Given the description of an element on the screen output the (x, y) to click on. 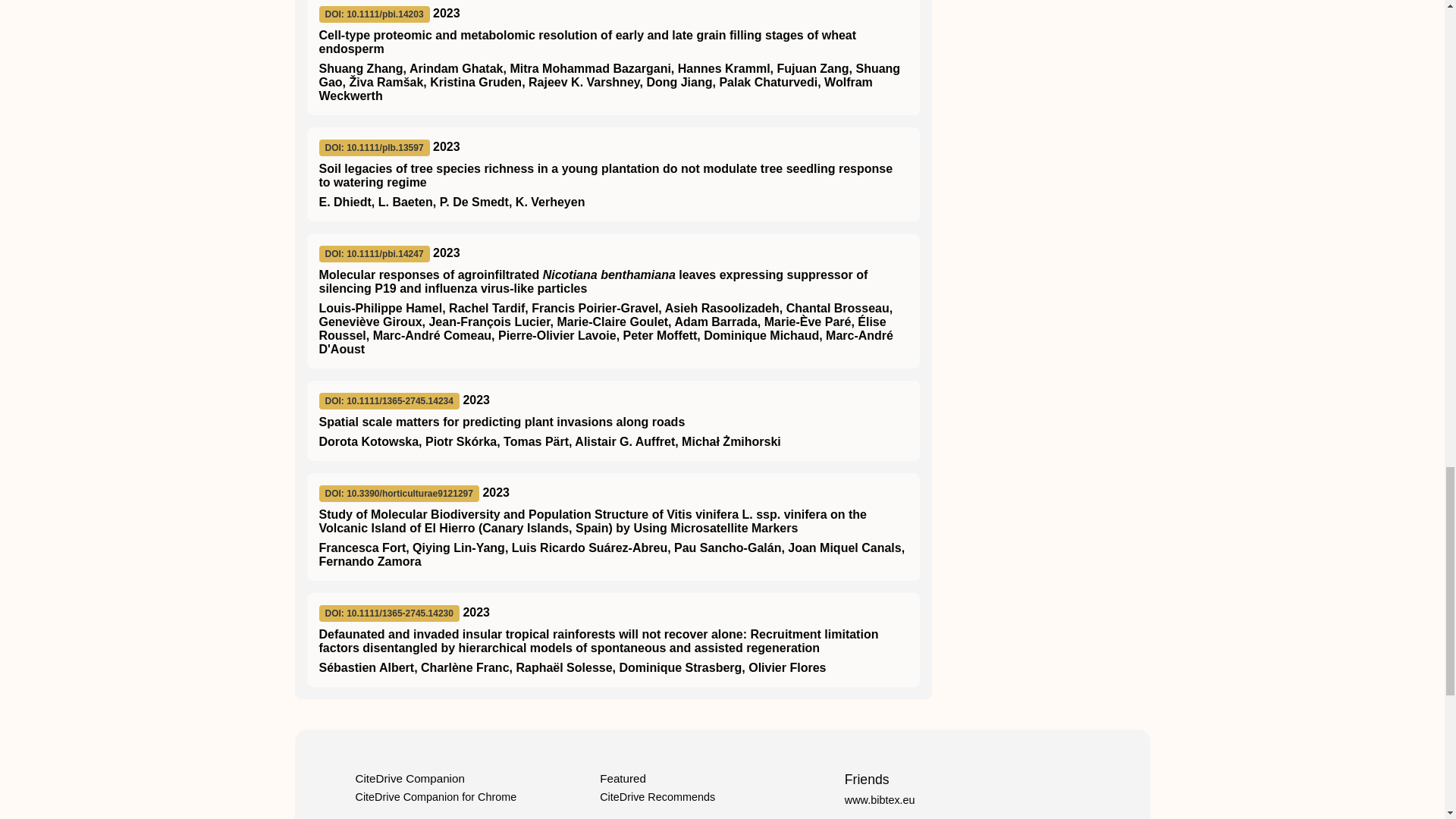
Citations (620, 818)
CiteDrive Recommends (656, 797)
CiteDrive Companion for Chrome (435, 797)
